Given the description of an element on the screen output the (x, y) to click on. 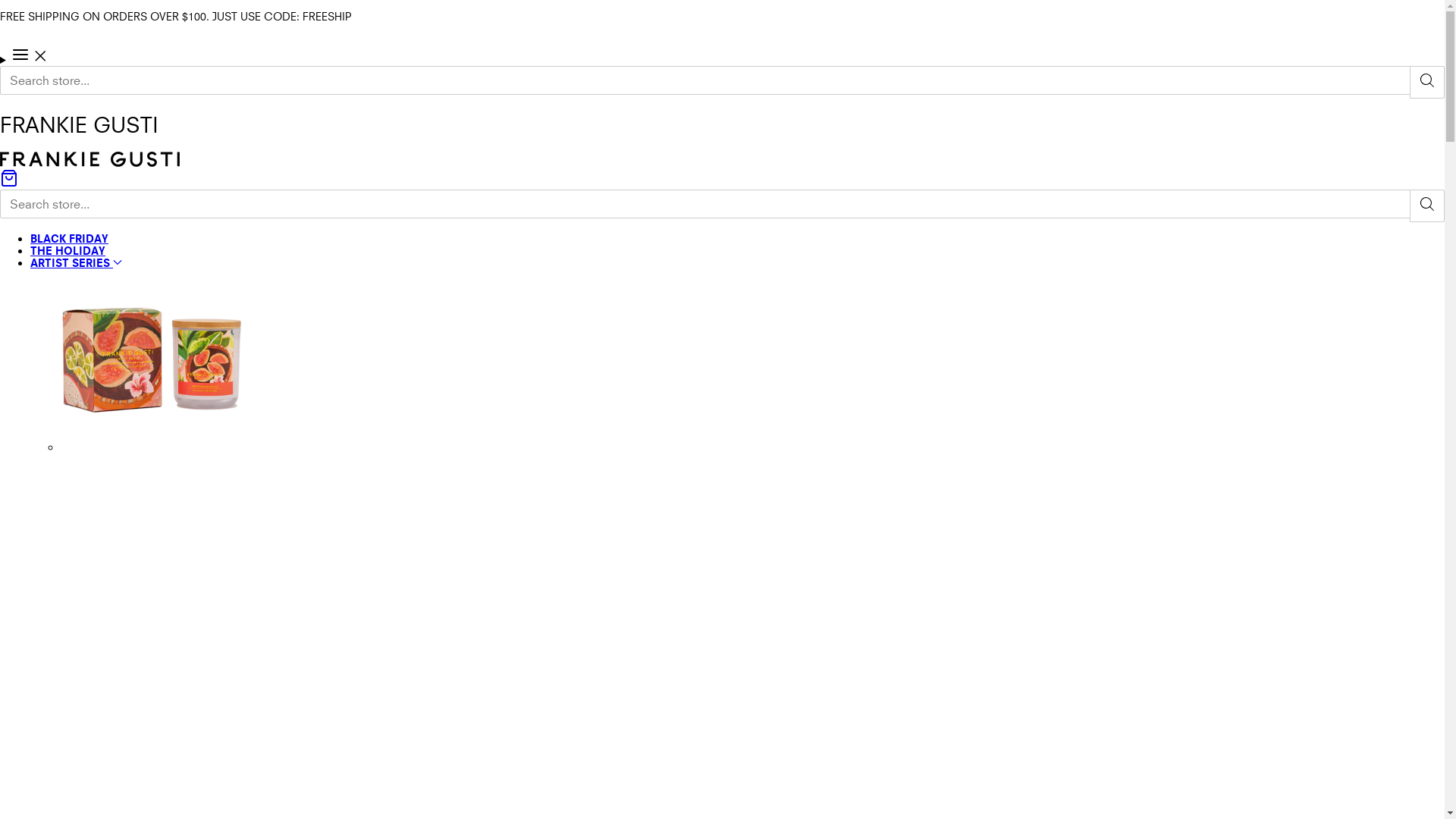
ARTIST SERIES Element type: text (76, 262)
FRANKIE GUSTI Element type: hover (89, 162)
THE HOLIDAY Element type: text (67, 250)
BLACK FRIDAY Element type: text (69, 238)
